Given the description of an element on the screen output the (x, y) to click on. 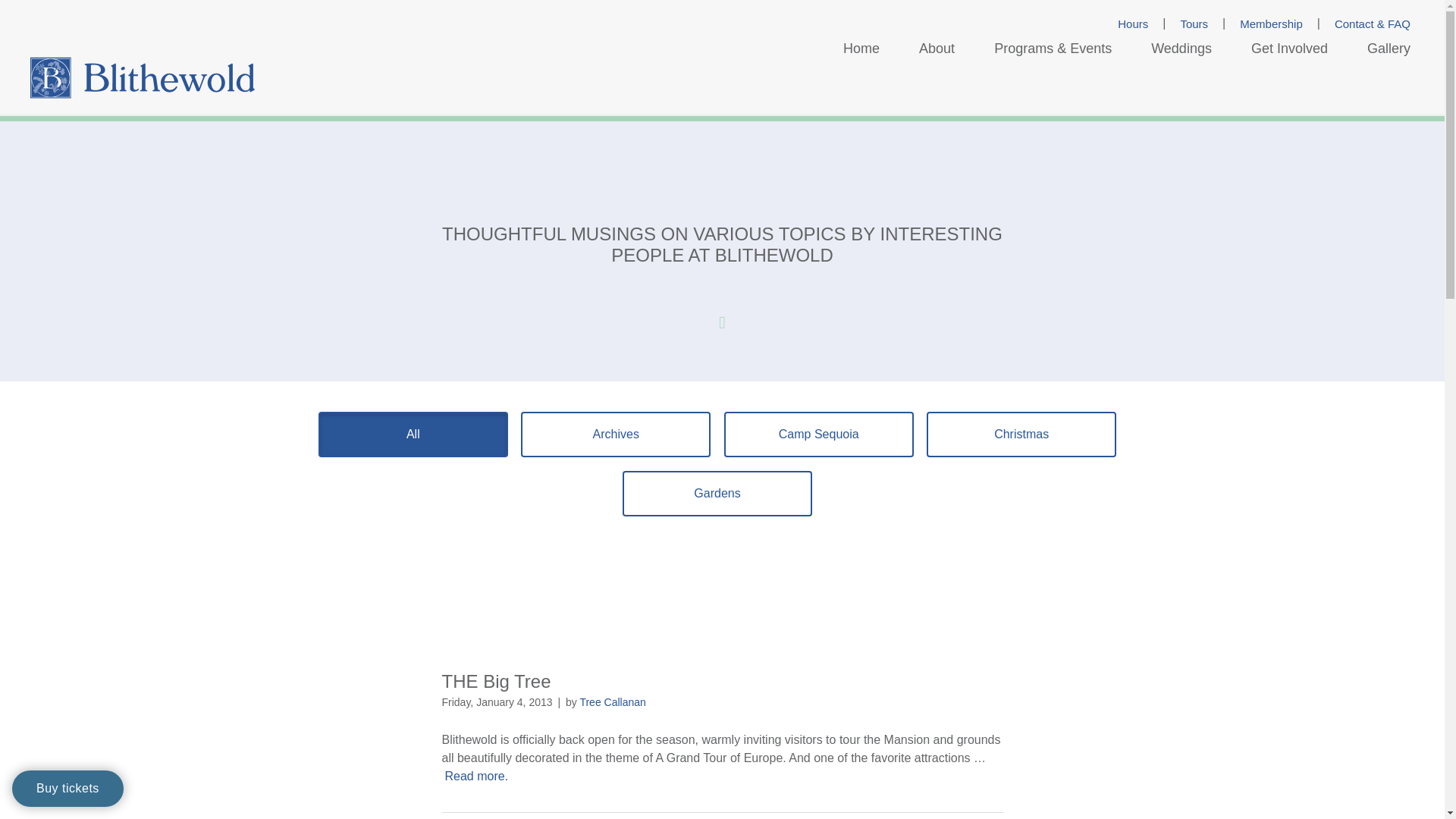
Tours (1193, 24)
Get Involved (1288, 48)
About (936, 48)
About (936, 48)
Home (861, 48)
Weddings (1181, 48)
Membership (1271, 24)
Archives (615, 434)
Tours (1193, 24)
Gallery (1388, 48)
Home (861, 48)
Hours (1133, 24)
Blithewold (142, 77)
All (413, 434)
Weddings (1181, 48)
